Given the description of an element on the screen output the (x, y) to click on. 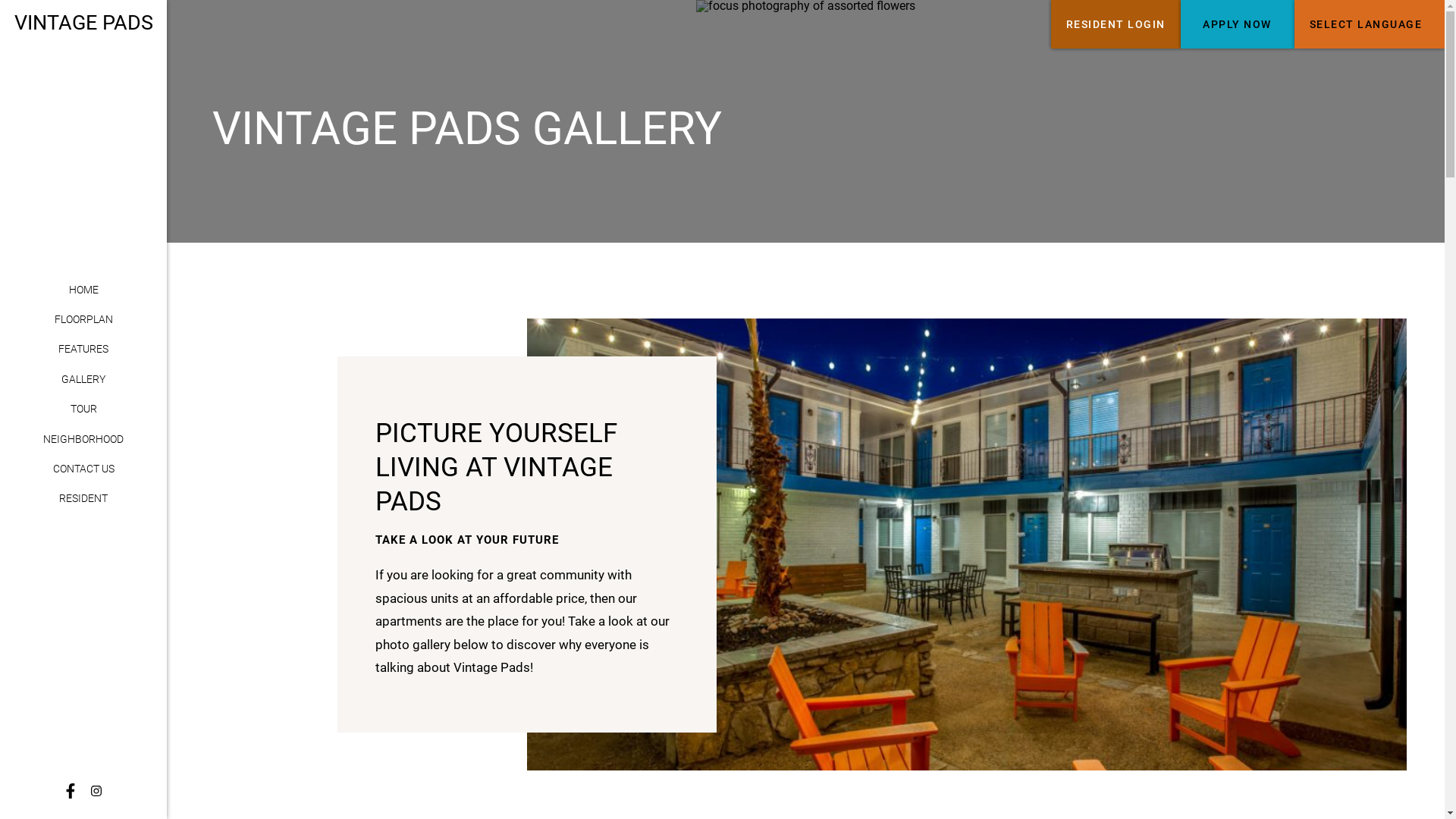
Follow on Facebook Element type: text (96, 790)
FEATURES Element type: text (83, 349)
APPLY NOW Element type: text (1236, 24)
SELECT LANGUAGE Element type: text (1368, 24)
GALLERY Element type: text (83, 379)
NEIGHBORHOOD Element type: text (83, 439)
RESIDENT Element type: text (83, 498)
TOUR Element type: text (83, 409)
FLOORPLAN Element type: text (83, 319)
CONTACT US Element type: text (83, 469)
VINTAGE PADS Element type: text (83, 22)
HOME Element type: text (83, 290)
Follow on Facebook Element type: text (70, 790)
RESIDENT LOGIN Element type: text (1115, 24)
